Given the description of an element on the screen output the (x, y) to click on. 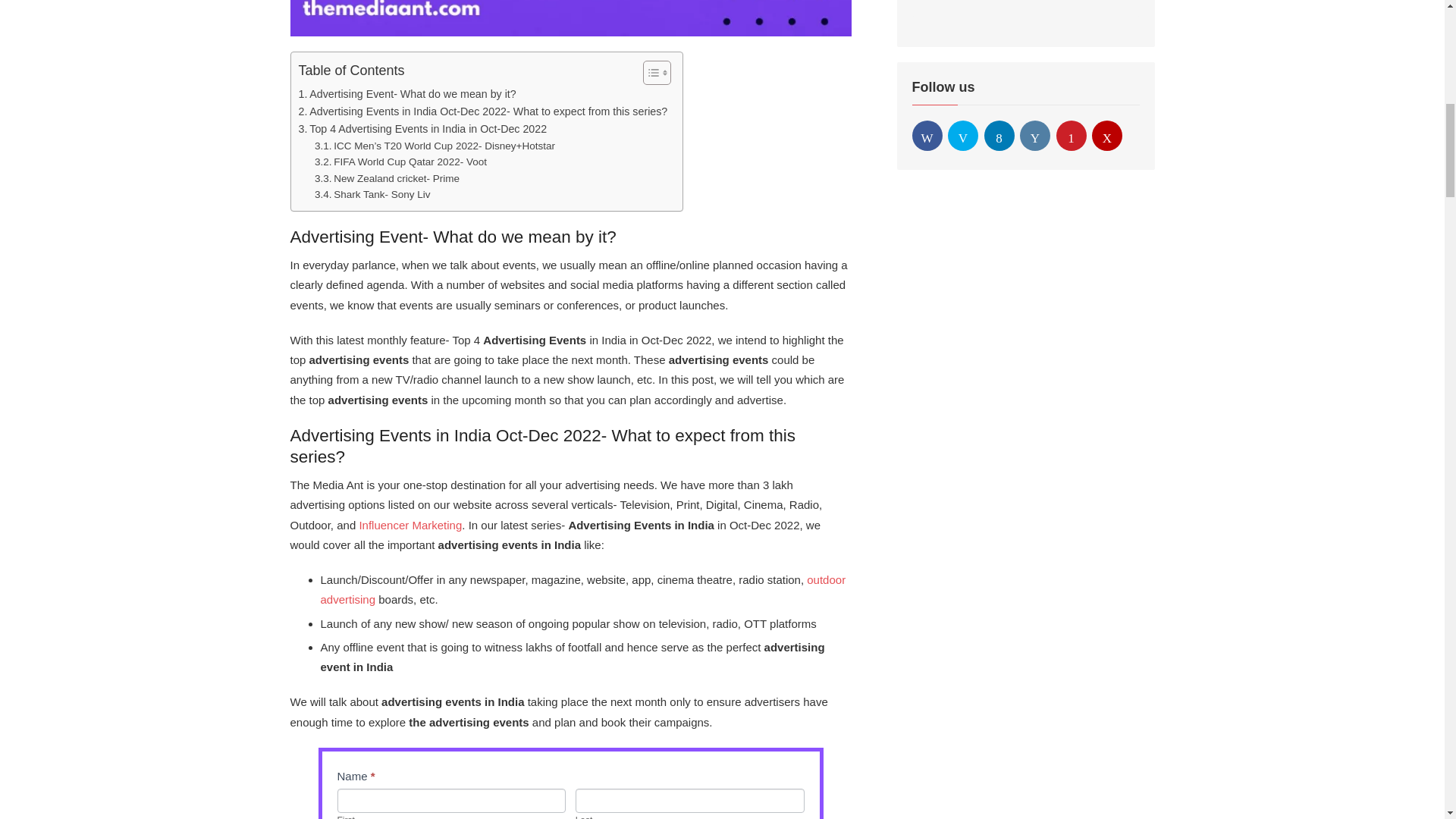
outdoor advertising (582, 589)
Top 4 Advertising Events in India in Oct-Dec 2022 (422, 129)
Advertising Event- What do we mean by it? (407, 94)
 Influencer Marketing (408, 524)
FIFA World Cup Qatar 2022- Voot (400, 161)
Shark Tank- Sony Liv (372, 194)
Top 4 Advertising Events In India In Oct-Dec 2022 1 (569, 18)
New Zealand cricket- Prime (387, 178)
